Given the description of an element on the screen output the (x, y) to click on. 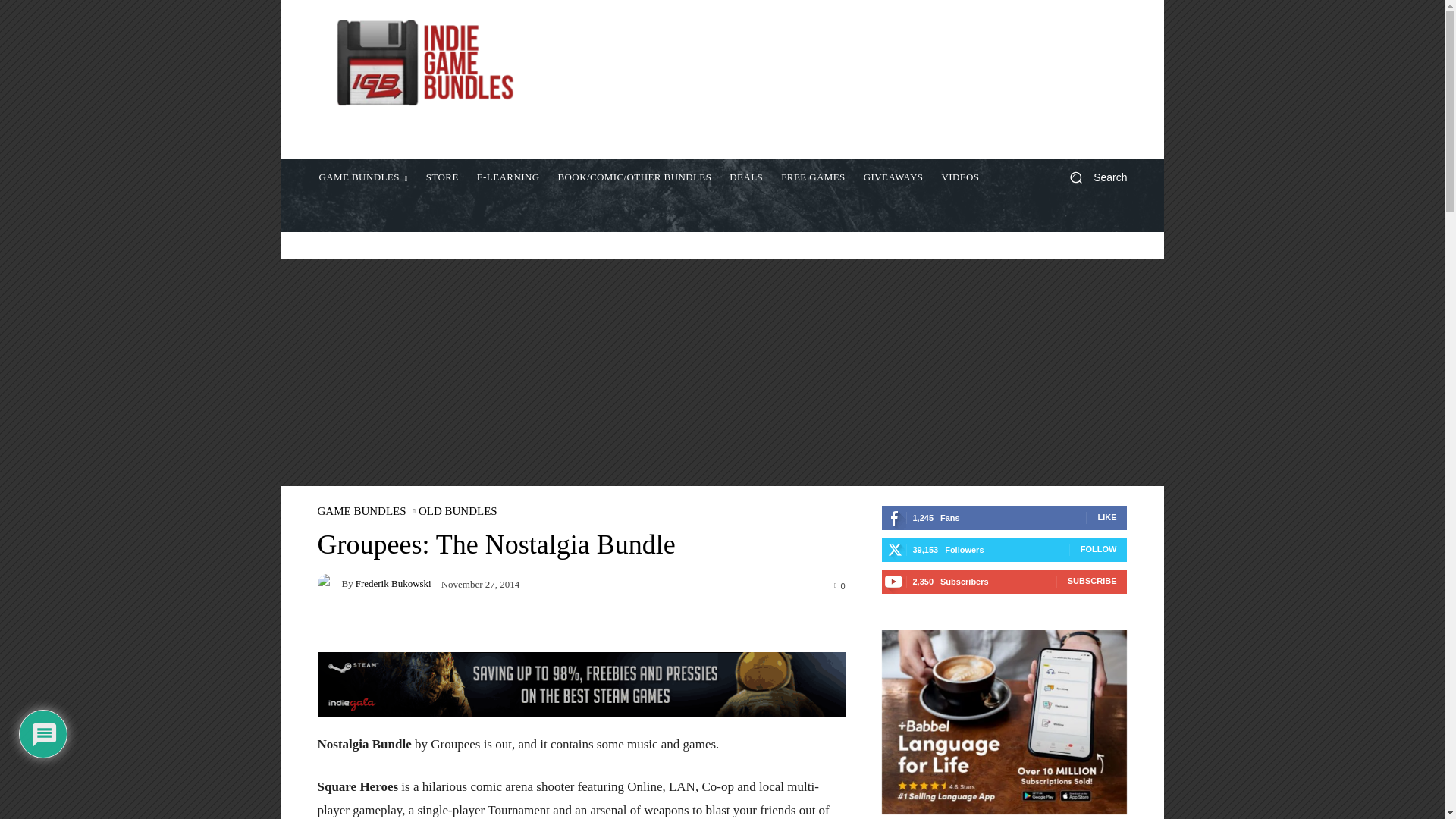
STORE (441, 176)
GAME BUNDLES (361, 511)
Frederik Bukowski (328, 583)
GAME BUNDLES (362, 176)
DEALS (745, 176)
VIDEOS (959, 176)
Search (1092, 177)
Advertisement (849, 79)
E-LEARNING (507, 176)
0 (839, 584)
OLD BUNDLES (458, 511)
Frederik Bukowski (392, 583)
GIVEAWAYS (893, 176)
FREE GAMES (812, 176)
